Given the description of an element on the screen output the (x, y) to click on. 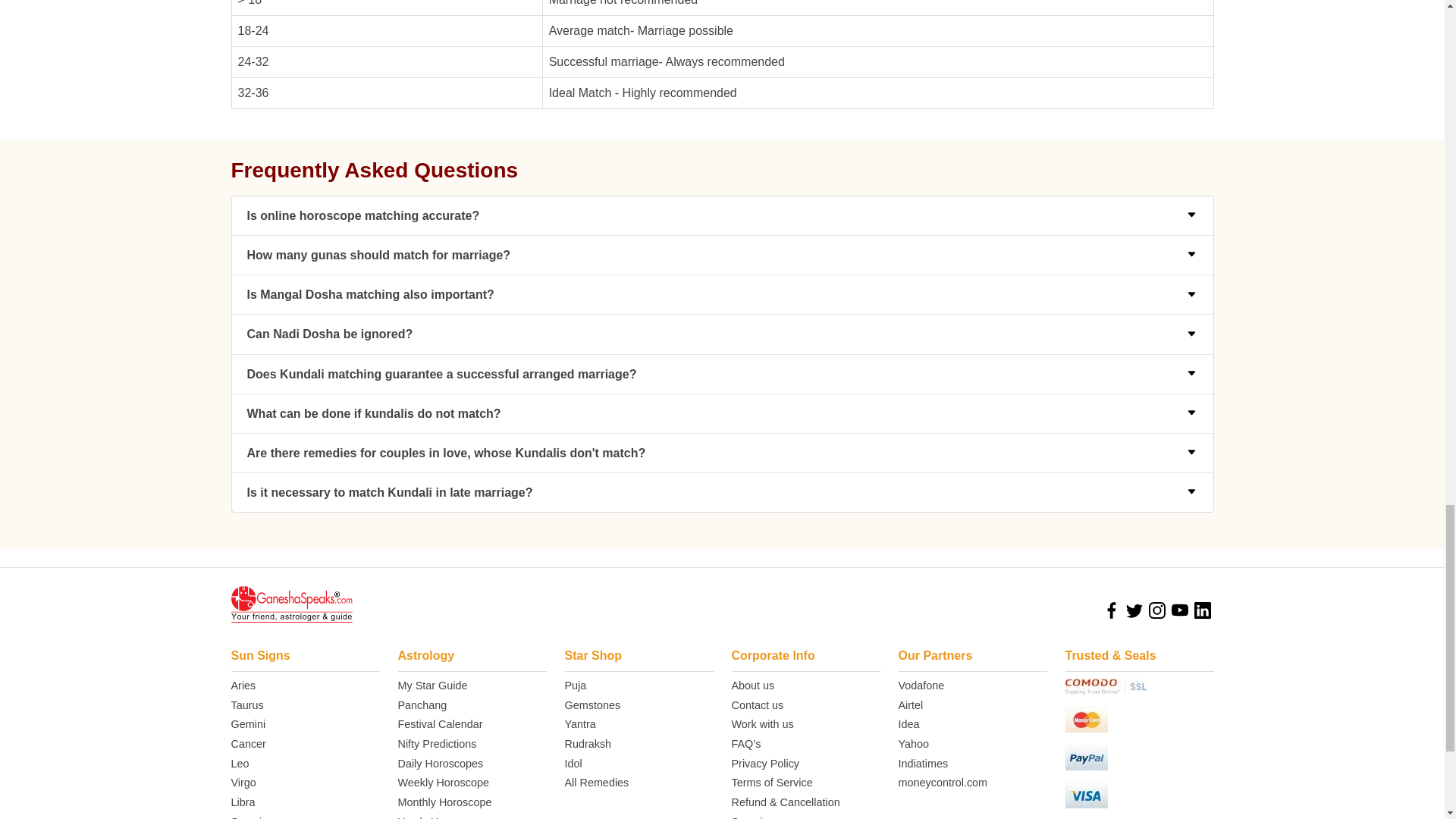
instagram (1156, 610)
twitter (1133, 610)
facebook (1110, 610)
Aries (304, 686)
Ganeshaspeaks (291, 604)
youtube (1179, 610)
LinkedIn (1201, 610)
